Given the description of an element on the screen output the (x, y) to click on. 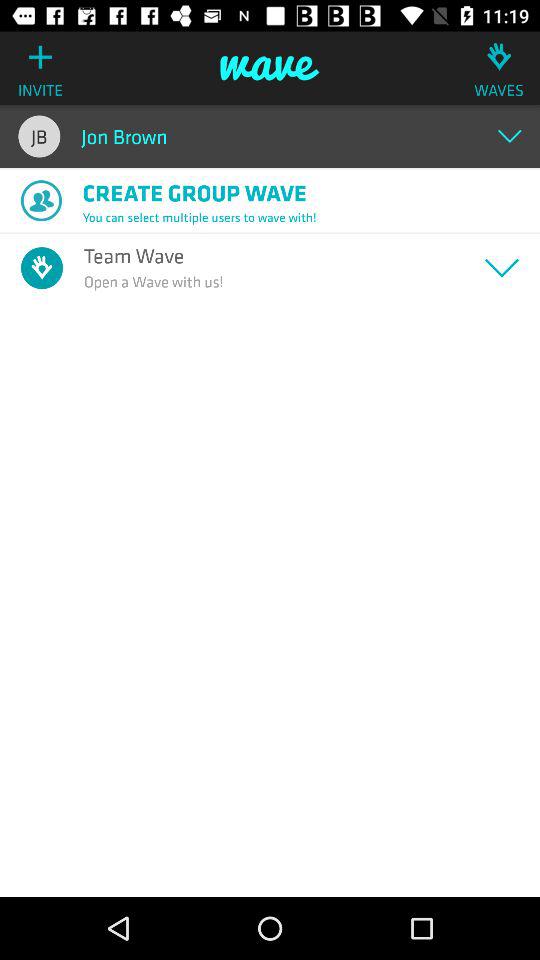
choose the item above the jon brown item (269, 68)
